Given the description of an element on the screen output the (x, y) to click on. 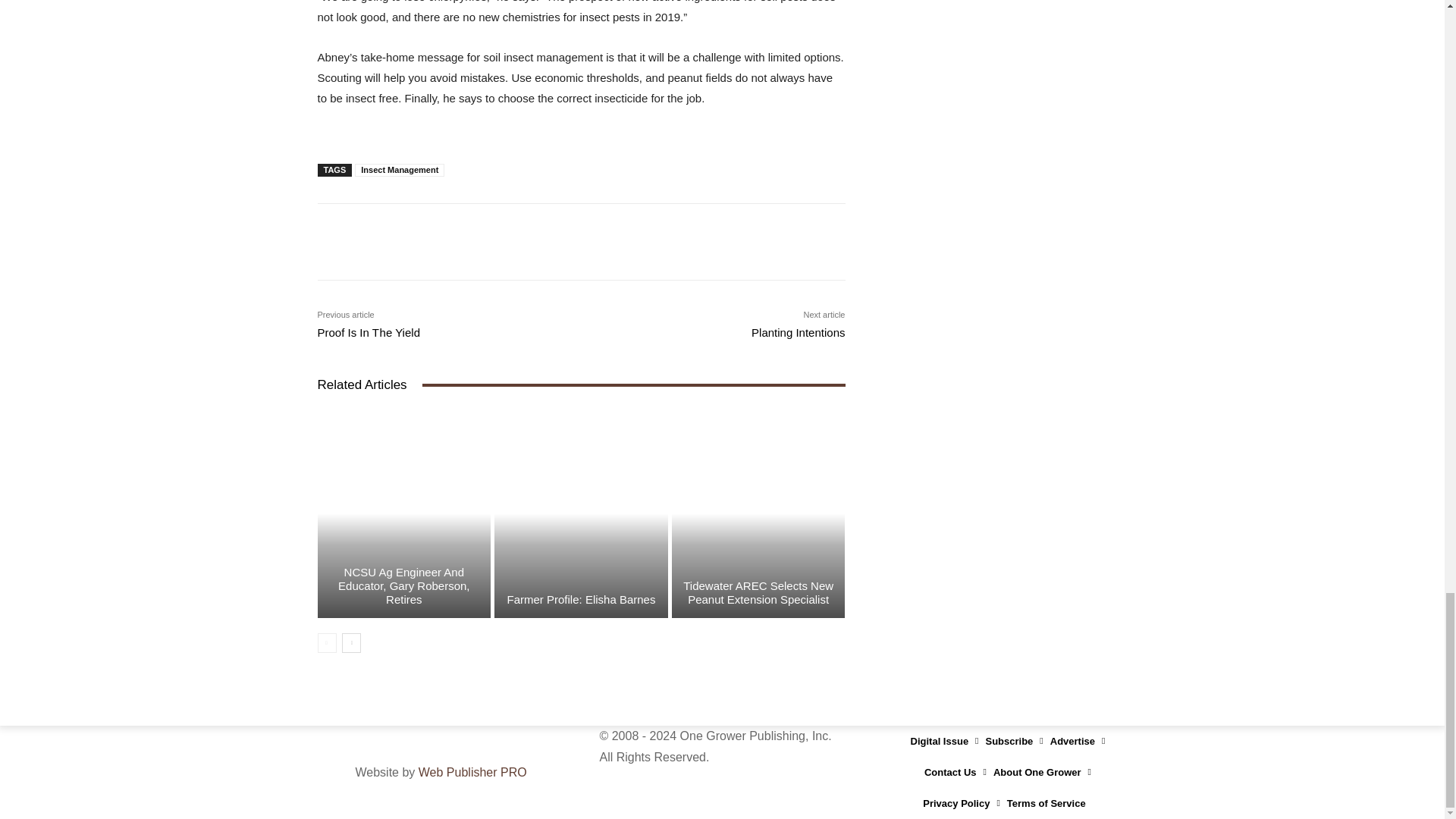
Tidewater AREC Selects New Peanut Extension Specialist (758, 513)
NCSU Ag Engineer And Educator, Gary Roberson, Retires (403, 513)
Farmer Profile: Elisha Barnes (581, 513)
Farmer Profile: Elisha Barnes (581, 599)
Tidewater AREC Selects New Peanut Extension Specialist (757, 592)
NCSU Ag Engineer And Educator, Gary Roberson, Retires (402, 585)
